Given the description of an element on the screen output the (x, y) to click on. 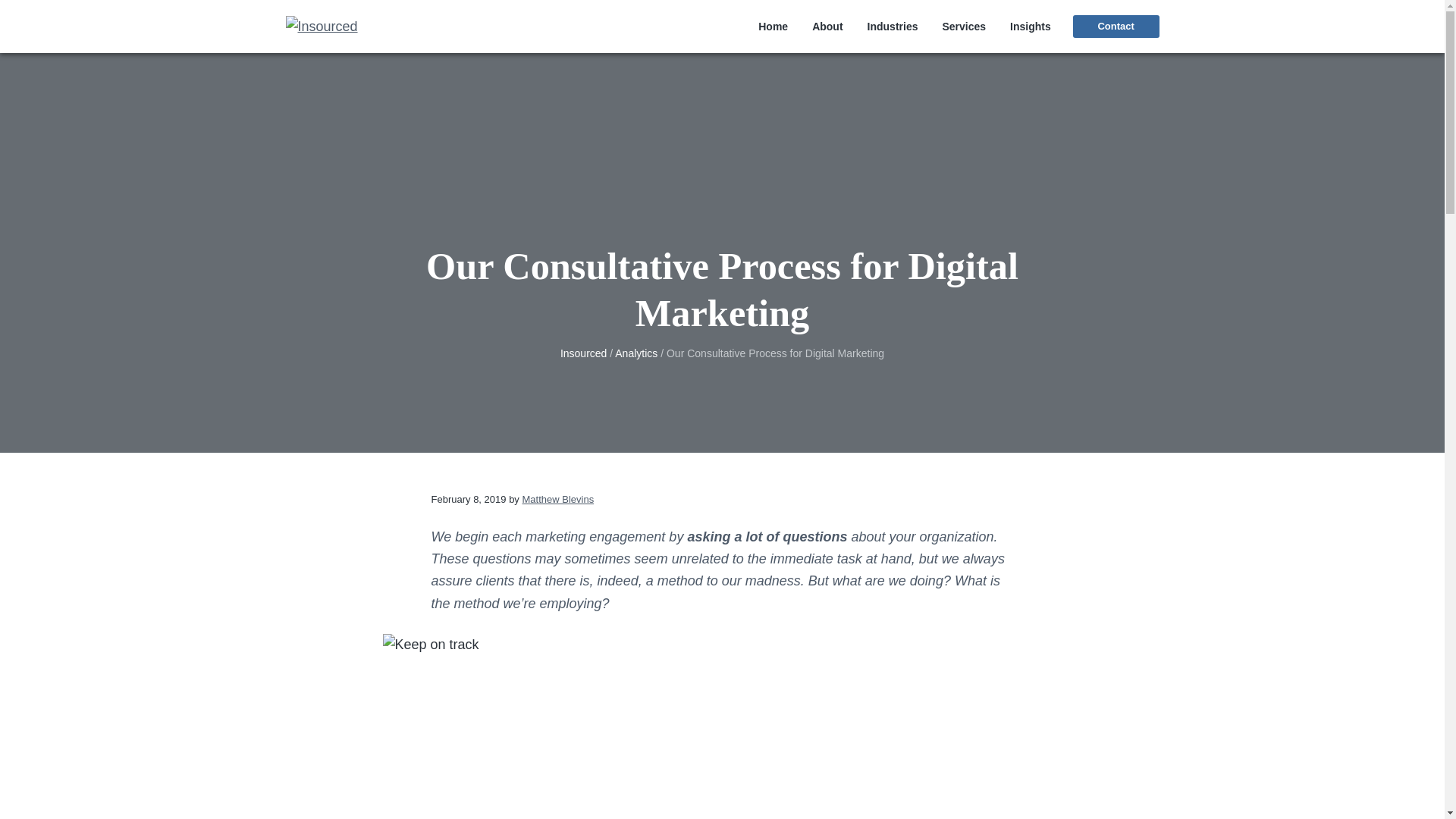
About (827, 27)
Home (772, 27)
Insights (1030, 27)
Matthew Blevins (557, 499)
Industries (892, 27)
Services (963, 27)
Insourced (583, 353)
Analytics (636, 353)
Contact (1115, 25)
